Given the description of an element on the screen output the (x, y) to click on. 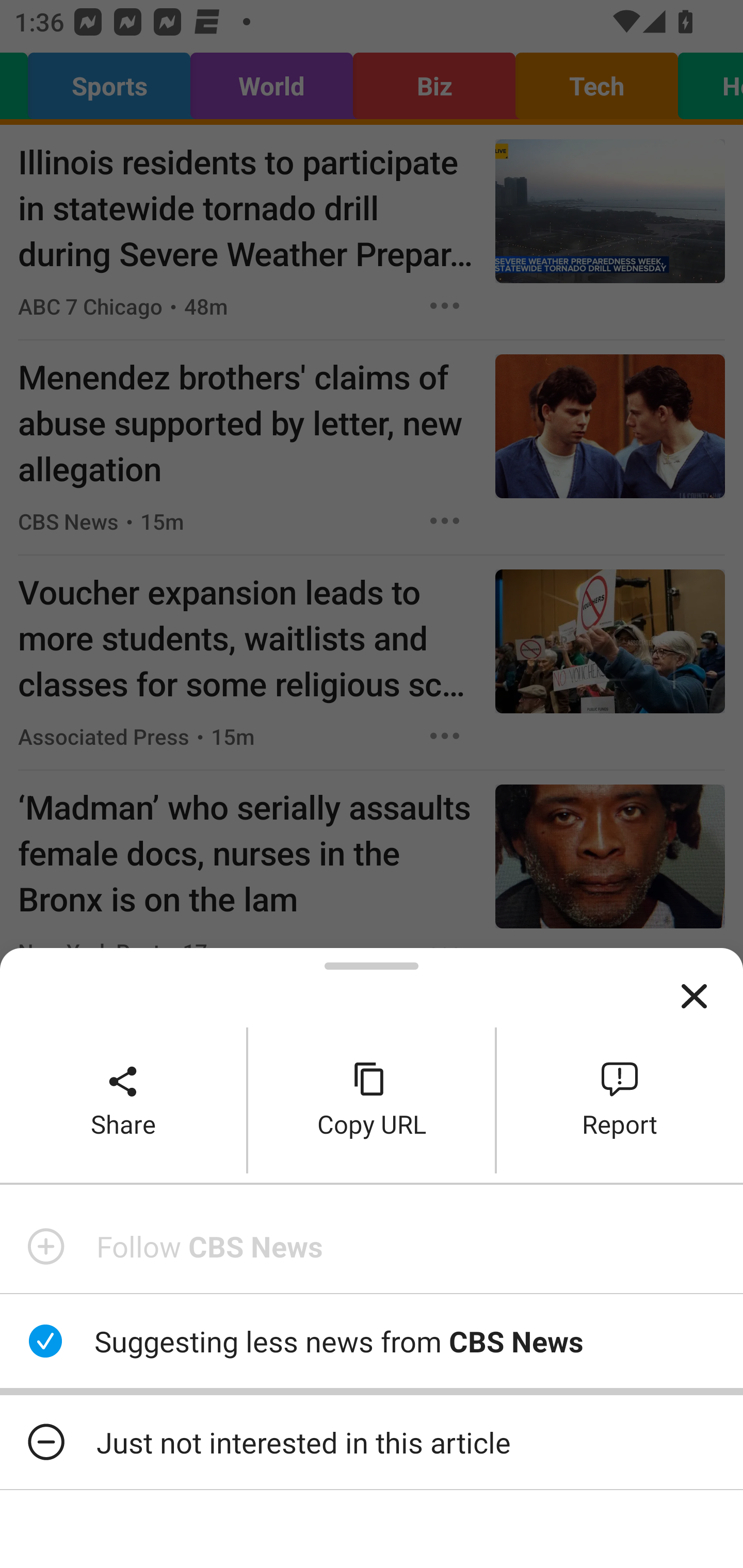
Close (694, 996)
Share (122, 1099)
Copy URL (371, 1099)
Report (620, 1099)
Follow CBS News (371, 1246)
Suggesting less news from CBS News (371, 1340)
Just not interested in this article (371, 1442)
